Given the description of an element on the screen output the (x, y) to click on. 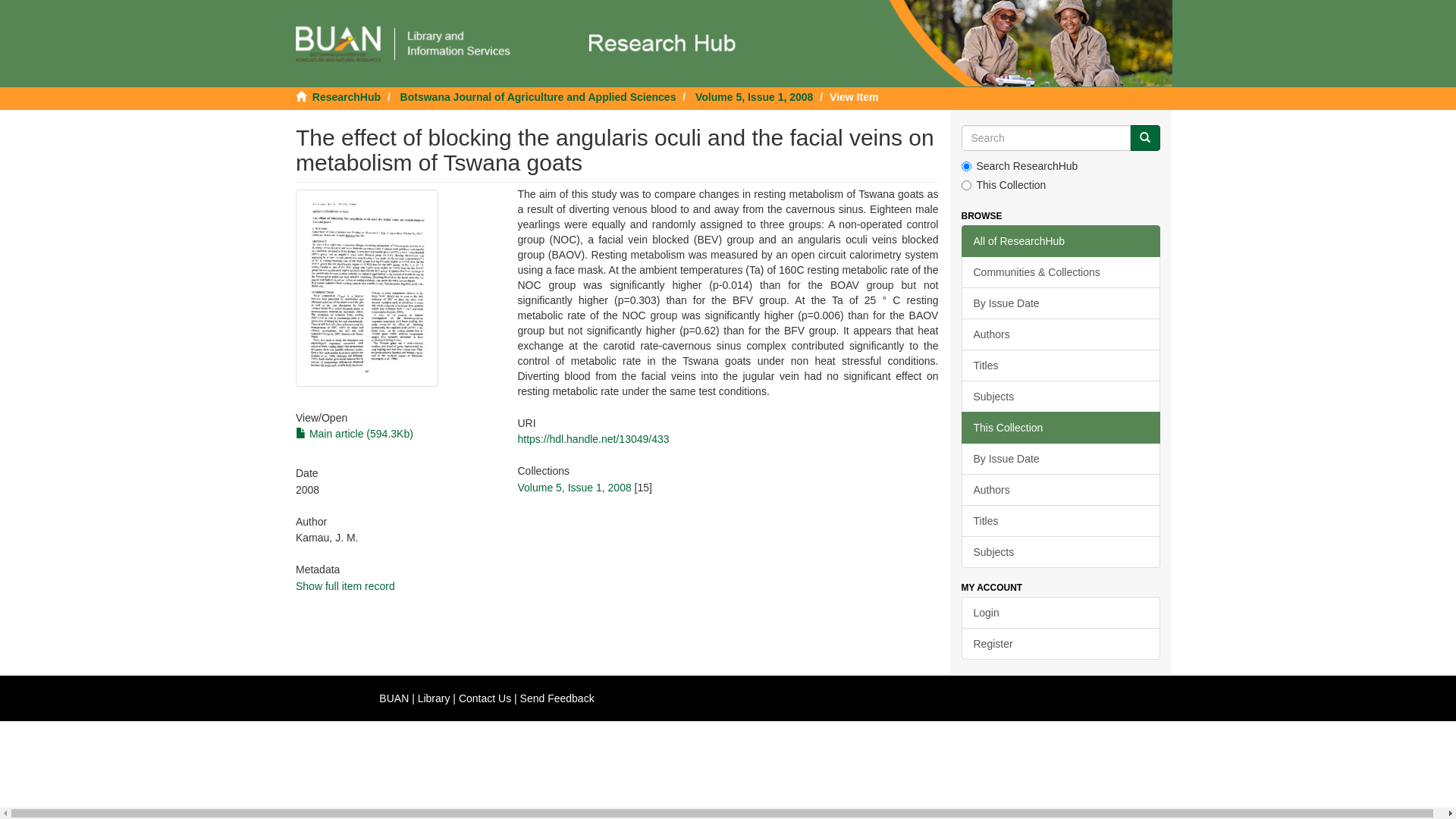
BUAN Element type: text (393, 698)
Titles Element type: text (1061, 520)
Authors Element type: text (1061, 489)
Login Element type: text (1061, 612)
All of ResearchHub Element type: text (1061, 241)
Contact Us Element type: text (484, 698)
Register Element type: text (1061, 643)
Go Element type: hover (1144, 137)
Main article (594.3Kb) Element type: text (354, 433)
ResearchHub Element type: text (346, 97)
Volume 5, Issue 1, 2008 Element type: text (573, 487)
Volume 5, Issue 1, 2008 Element type: text (753, 97)
Send Feedback Element type: text (557, 698)
By Issue Date Element type: text (1061, 458)
Subjects Element type: text (1061, 551)
Authors Element type: text (1061, 334)
This Collection Element type: text (1061, 427)
Subjects Element type: text (1061, 396)
Botswana Journal of Agriculture and Applied Sciences Element type: text (538, 97)
Communities & Collections Element type: text (1061, 272)
Titles Element type: text (1061, 365)
By Issue Date Element type: text (1061, 303)
https://hdl.handle.net/13049/433 Element type: text (592, 439)
Show full item record Element type: text (345, 586)
Library Element type: text (433, 698)
